Given the description of an element on the screen output the (x, y) to click on. 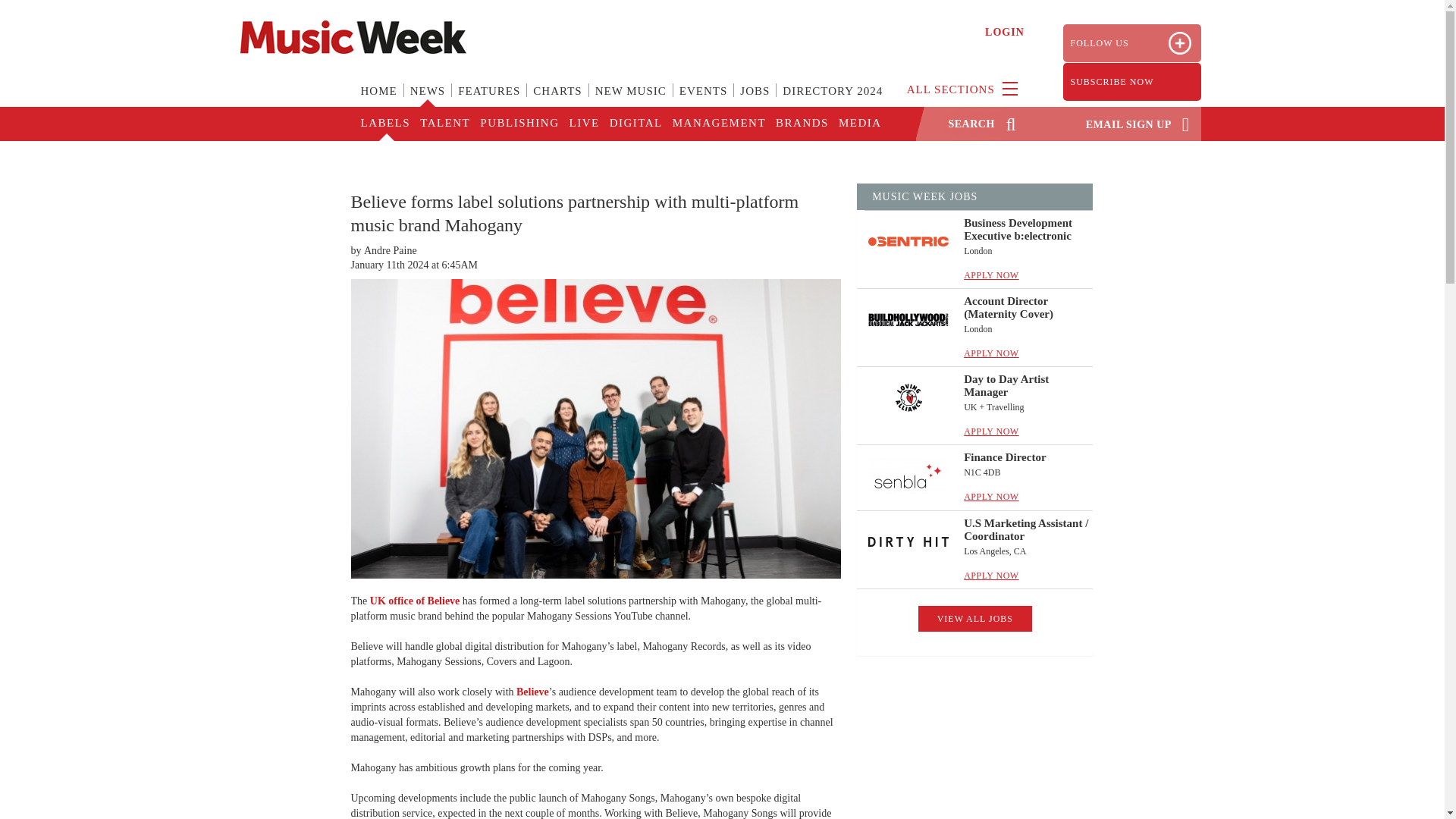
NEWS (427, 100)
MANAGEMENT (718, 123)
LABELS (384, 123)
HOME (379, 100)
DIGITAL (635, 123)
PUBLISHING (518, 123)
FEATURES (488, 100)
BRANDS (801, 123)
TALENT (443, 123)
CHARTS (557, 100)
